Given the description of an element on the screen output the (x, y) to click on. 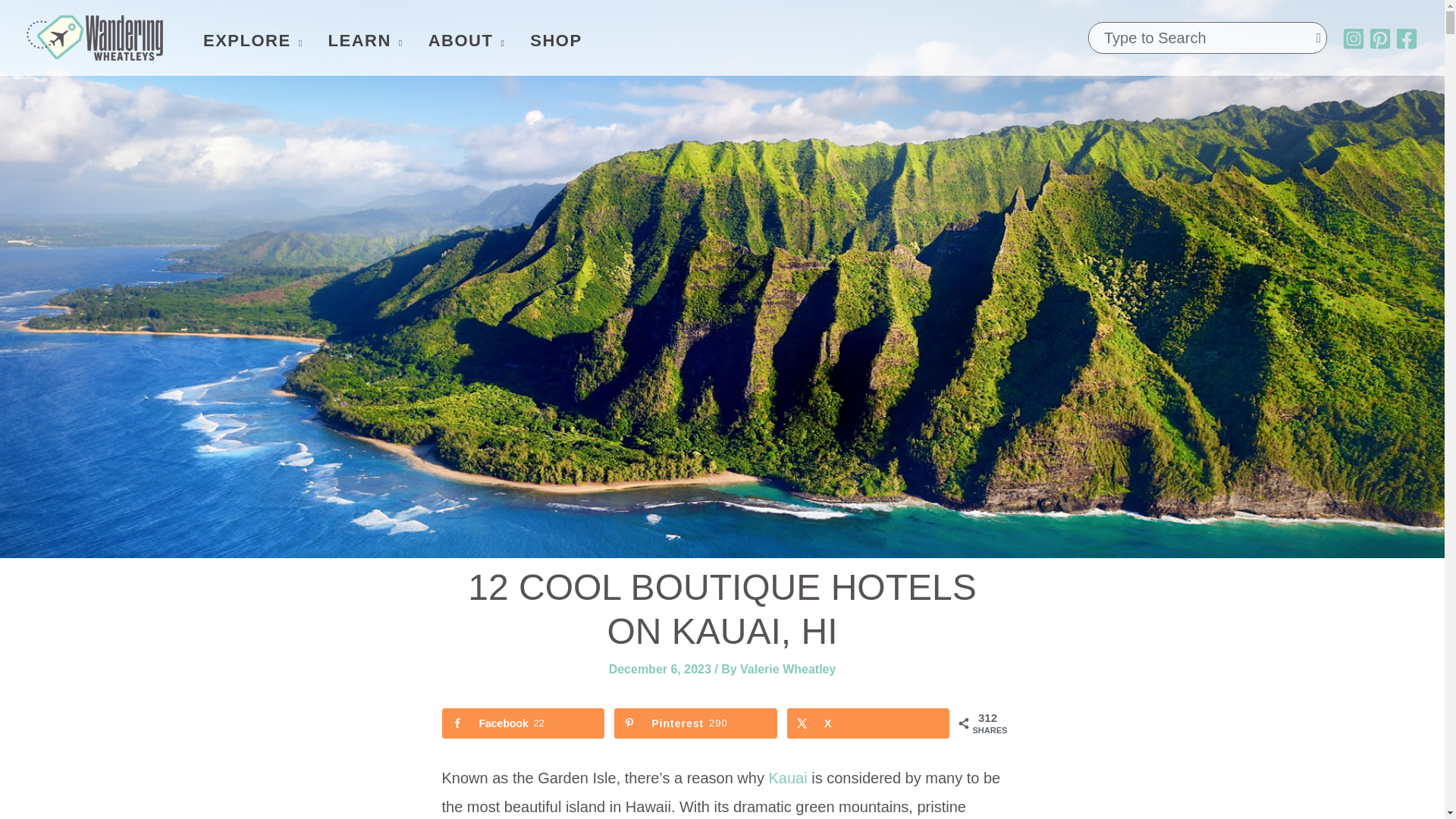
SHOP (542, 40)
Share on X (868, 723)
LEARN (352, 40)
ABOUT (454, 40)
Share on Facebook (522, 723)
Save to Pinterest (695, 723)
View all posts by Valerie Wheatley (787, 668)
EXPLORE (239, 40)
